Given the description of an element on the screen output the (x, y) to click on. 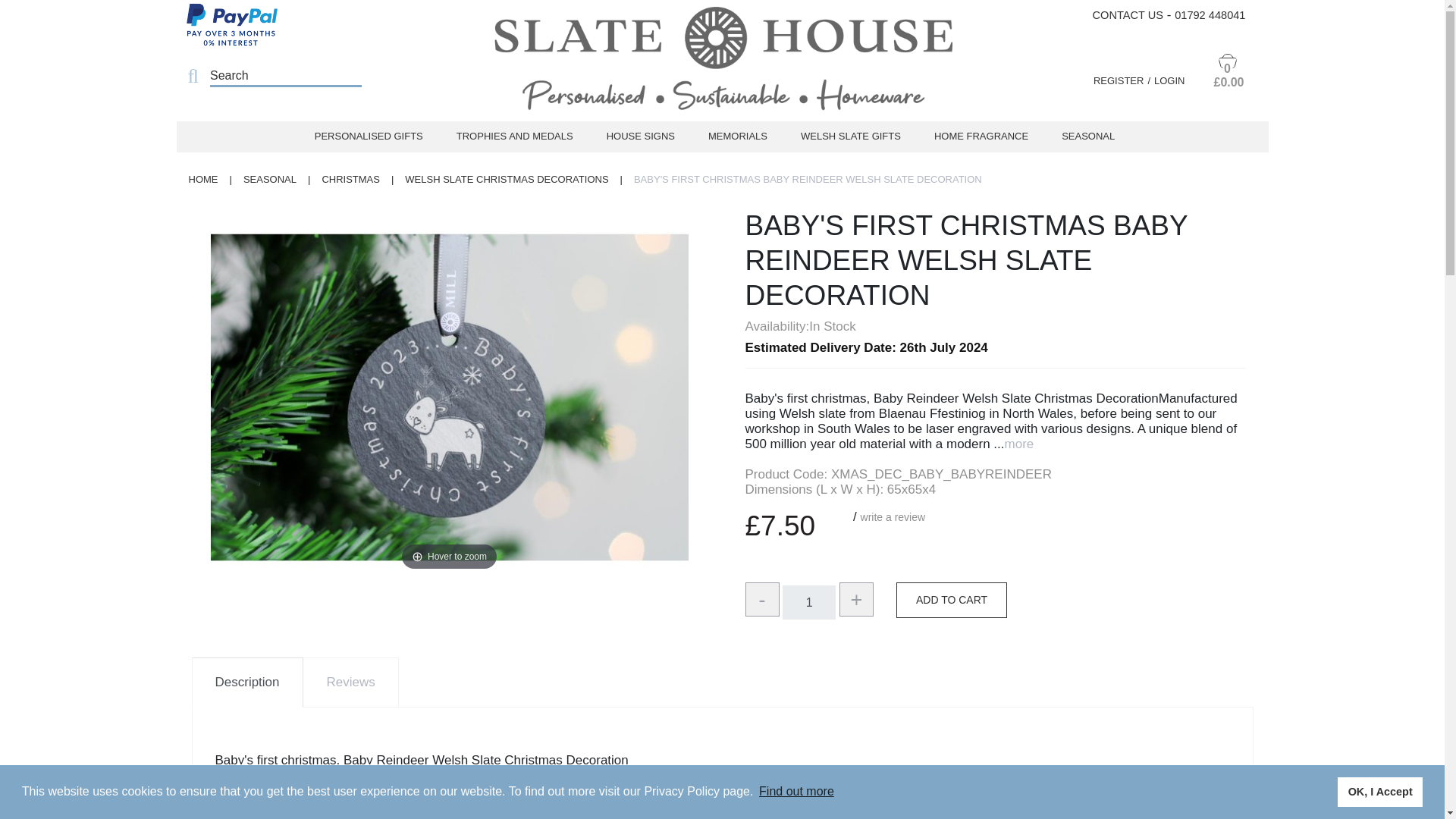
Find out more (796, 791)
HOUSE SIGNS (640, 136)
01792 448041 (1209, 15)
CONTACT US (1128, 15)
OK, I Accept (1380, 791)
1 (809, 602)
PERSONALISED GIFTS (368, 136)
REGISTER (1123, 80)
MEMORIALS (737, 136)
LOGIN (1169, 80)
Slate House (722, 65)
TROPHIES AND MEDALS (514, 136)
